Given the description of an element on the screen output the (x, y) to click on. 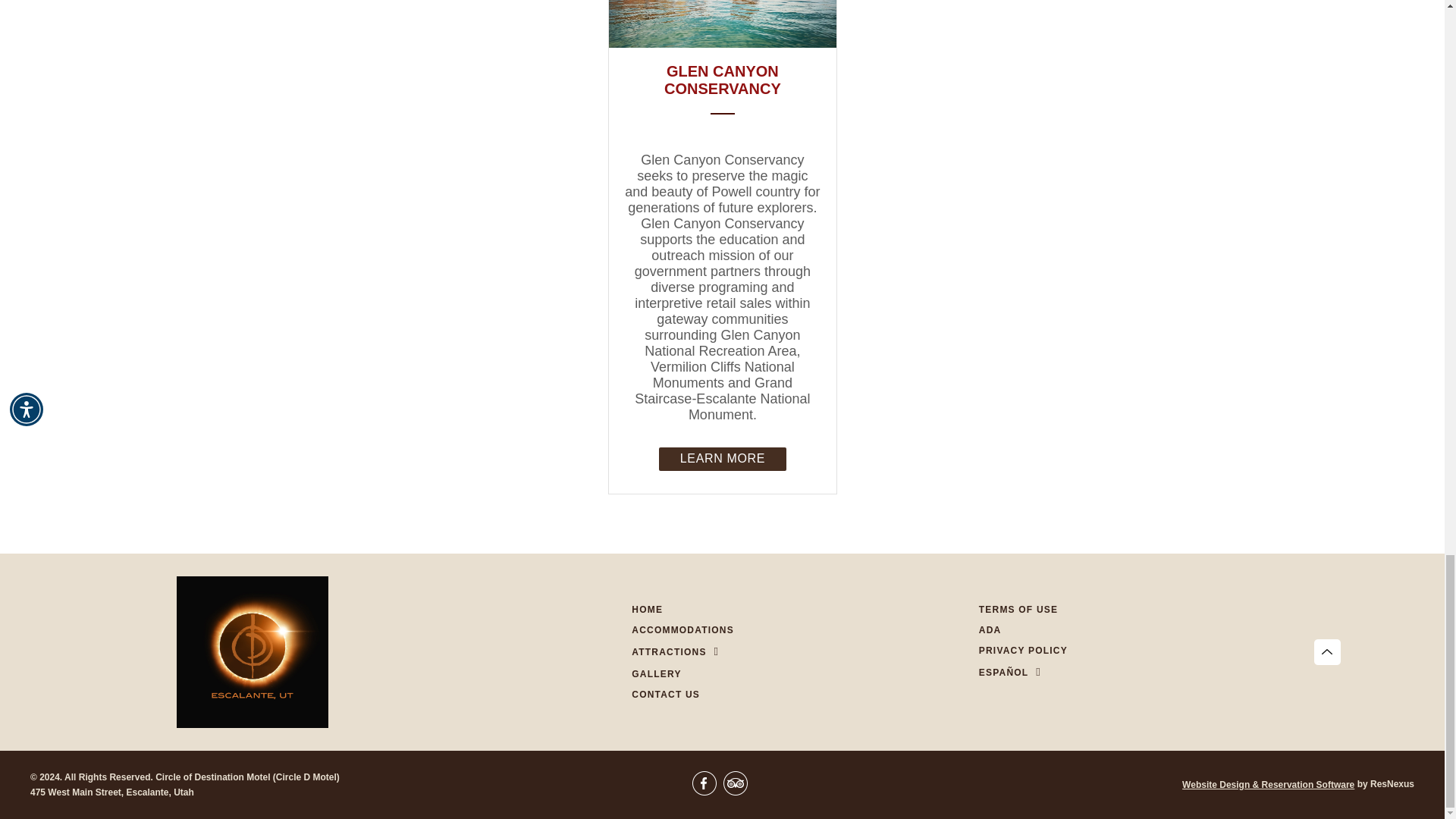
LEARN MORE (722, 458)
ATTRACTIONS (668, 651)
ACCOMMODATIONS (682, 629)
HOME (646, 609)
